Given the description of an element on the screen output the (x, y) to click on. 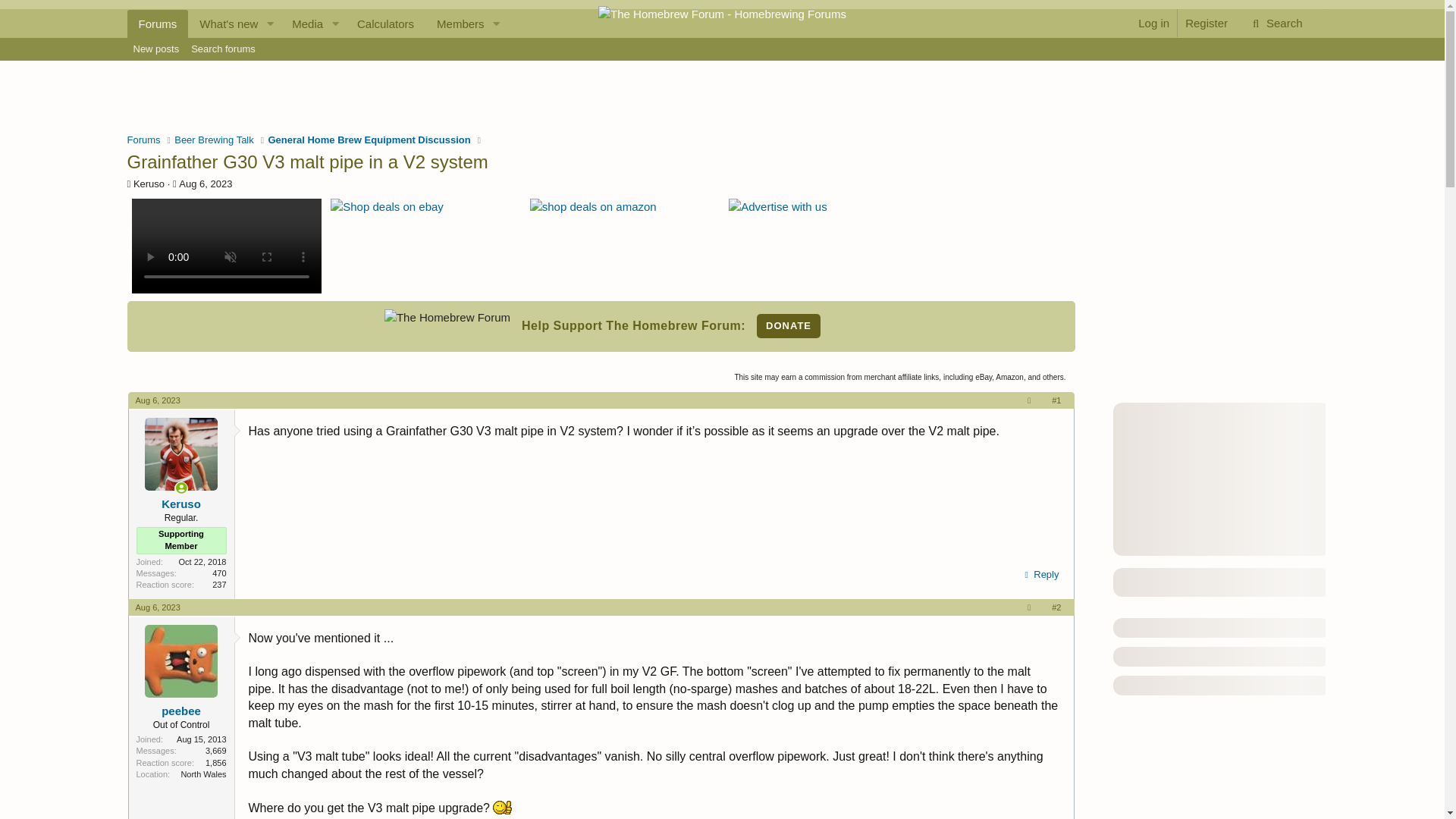
Online now (181, 487)
Donate (789, 325)
Forums (144, 140)
Beer Brewing Talk (213, 140)
Forums (321, 23)
Keruso (158, 23)
Search (148, 183)
New posts (1275, 23)
Calculators (157, 48)
